Given the description of an element on the screen output the (x, y) to click on. 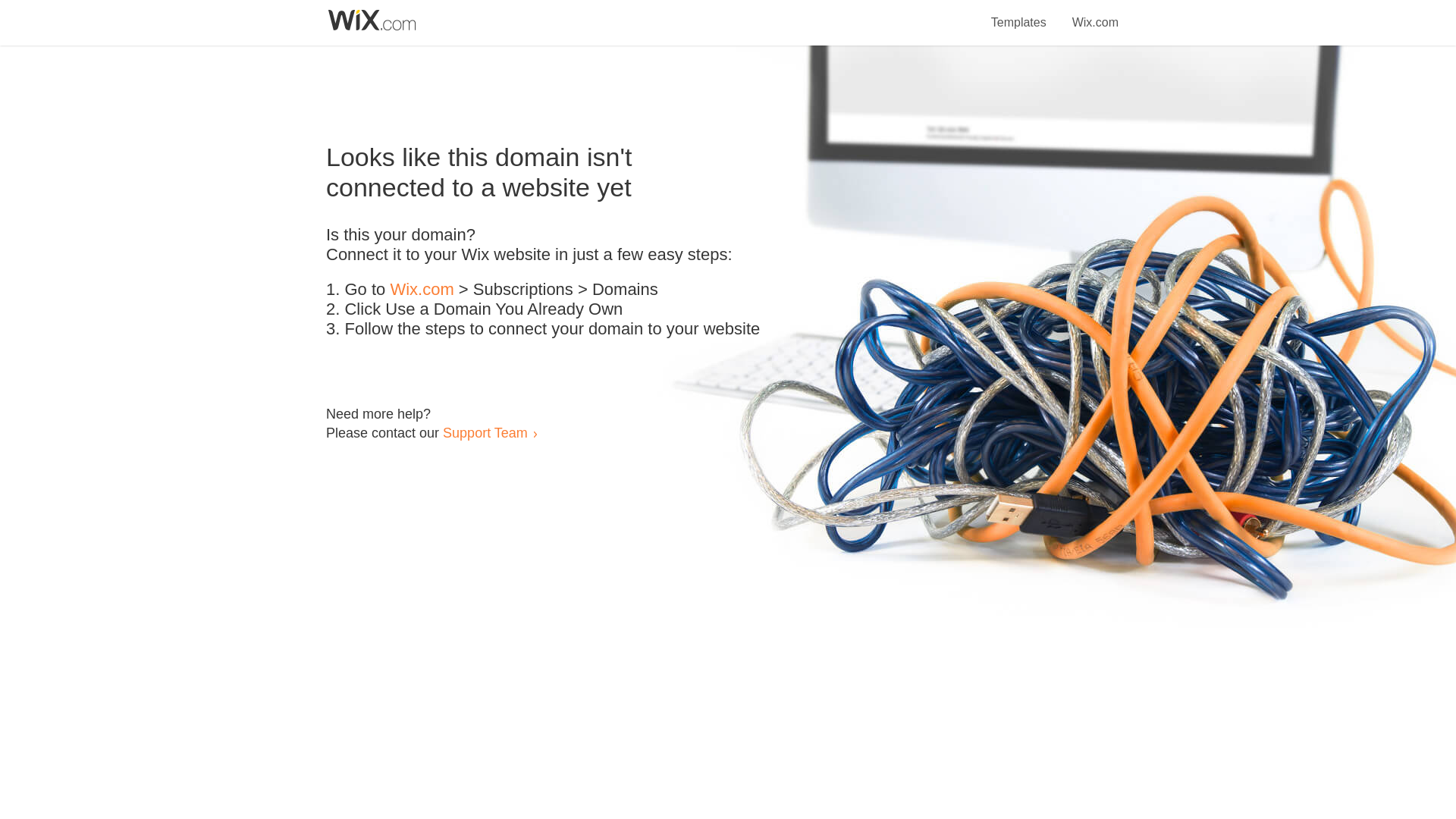
Wix.com (421, 289)
Templates (1018, 14)
Support Team (484, 432)
Wix.com (1095, 14)
